Given the description of an element on the screen output the (x, y) to click on. 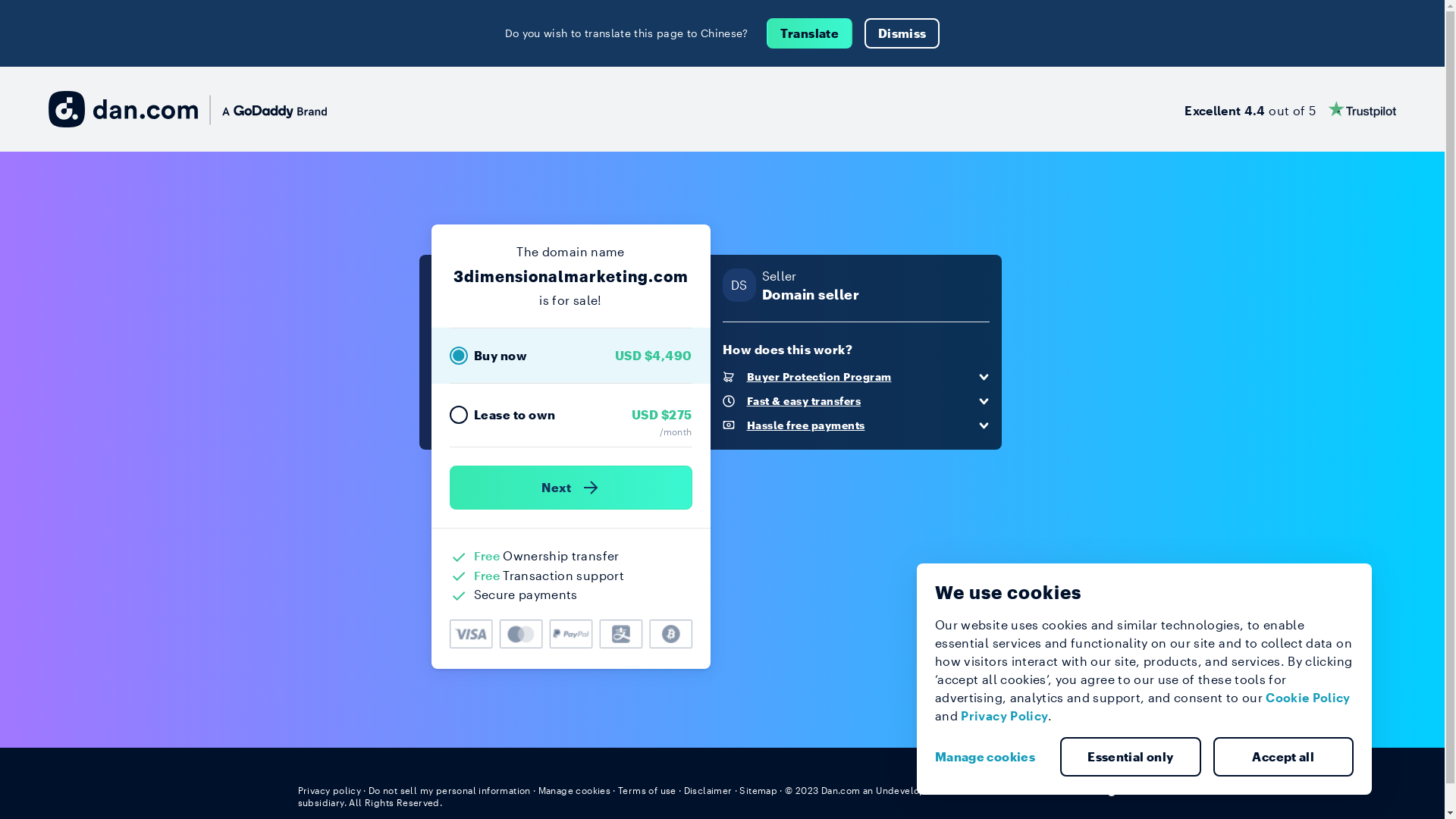
Translate Element type: text (809, 33)
Privacy Policy Element type: text (1004, 715)
Do not sell my personal information Element type: text (449, 789)
Accept all Element type: text (1283, 756)
Excellent 4.4 out of 5 Element type: text (1290, 109)
Manage cookies Element type: text (991, 756)
Terms of use Element type: text (647, 789)
Disclaimer Element type: text (708, 789)
English Element type: text (1119, 789)
Essential only Element type: text (1130, 756)
Next
) Element type: text (569, 487)
Dismiss Element type: text (901, 33)
Cookie Policy Element type: text (1307, 697)
Privacy policy Element type: text (328, 789)
Sitemap Element type: text (758, 789)
Manage cookies Element type: text (574, 790)
